Given the description of an element on the screen output the (x, y) to click on. 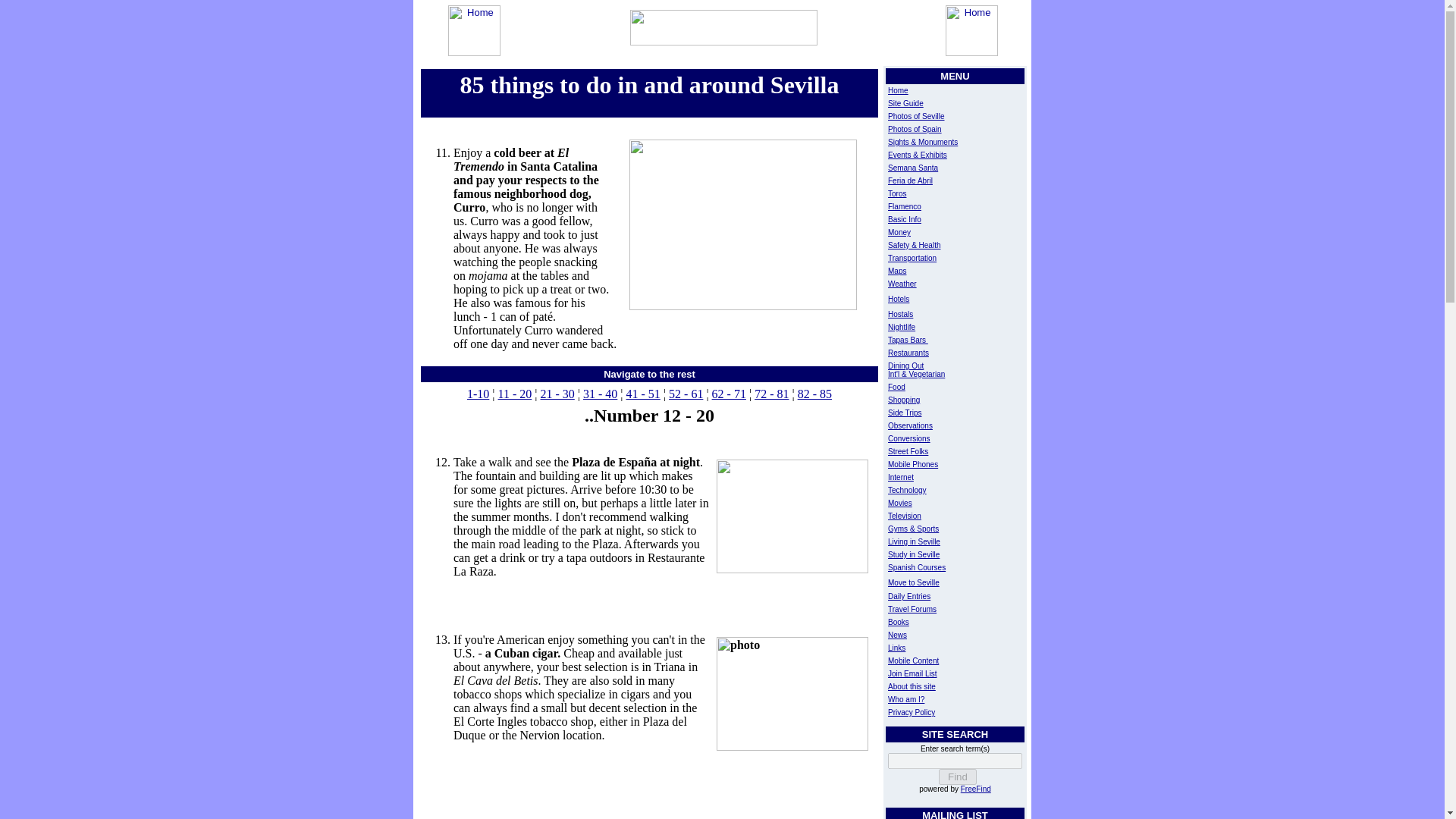
Flamenco (904, 206)
Tapas Bars (908, 339)
Semana Santa (912, 167)
Money (899, 232)
Nightlife (901, 326)
Photos of Seville (916, 116)
Transportation (912, 257)
Maps (896, 270)
 Find  (957, 776)
Weather (902, 284)
